Given the description of an element on the screen output the (x, y) to click on. 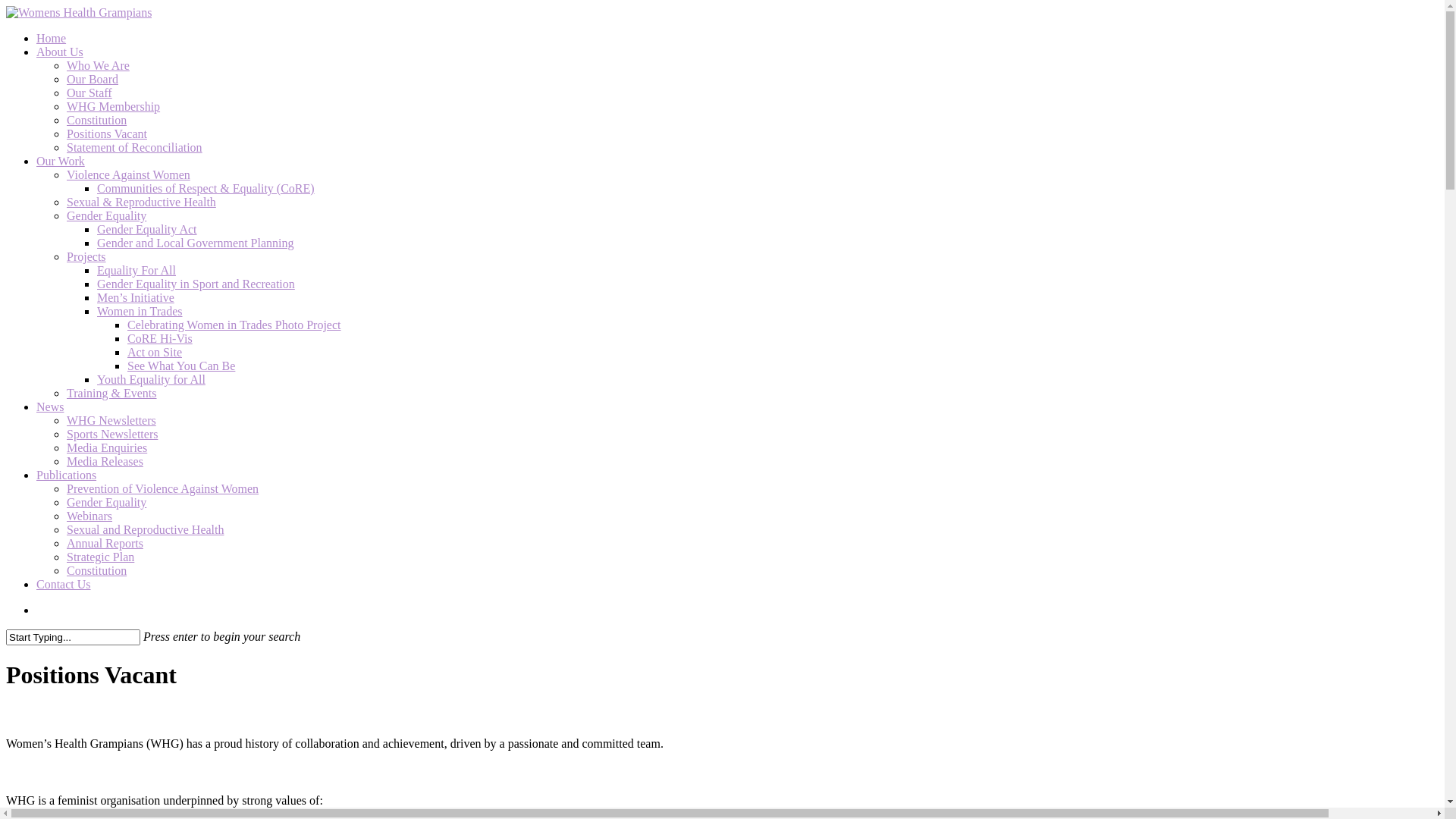
Annual Reports Element type: text (104, 542)
Media Releases Element type: text (104, 461)
Skip to main content Element type: text (5, 5)
Gender Equality Element type: text (106, 501)
Equality For All Element type: text (136, 269)
Sports Newsletters Element type: text (111, 433)
Violence Against Women Element type: text (128, 174)
About Us Element type: text (59, 51)
CoRE Hi-Vis Element type: text (159, 338)
Our Board Element type: text (92, 78)
WHG Newsletters Element type: text (111, 420)
Projects Element type: text (86, 256)
Women in Trades Element type: text (139, 310)
Sexual & Reproductive Health Element type: text (141, 201)
Who We Are Element type: text (97, 65)
Gender and Local Government Planning Element type: text (195, 242)
WHG Membership Element type: text (113, 106)
Constitution Element type: text (96, 119)
Youth Equality for All Element type: text (151, 379)
Contact Us Element type: text (63, 583)
Gender Equality in Sport and Recreation Element type: text (195, 283)
Positions Vacant Element type: text (106, 133)
Publications Element type: text (66, 474)
Strategic Plan Element type: text (100, 556)
Our Staff Element type: text (89, 92)
See What You Can Be Element type: text (181, 365)
Webinars Element type: text (89, 515)
Gender Equality Element type: text (106, 215)
Gender Equality Act Element type: text (147, 228)
Communities of Respect & Equality (CoRE) Element type: text (205, 188)
Constitution Element type: text (96, 570)
Celebrating Women in Trades Photo Project Element type: text (234, 324)
Media Enquiries Element type: text (106, 447)
Our Work Element type: text (60, 160)
Training & Events Element type: text (111, 392)
News Element type: text (49, 406)
Sexual and Reproductive Health Element type: text (145, 529)
Act on Site Element type: text (154, 351)
Statement of Reconciliation Element type: text (134, 147)
Home Element type: text (50, 37)
Prevention of Violence Against Women Element type: text (162, 488)
